Given the description of an element on the screen output the (x, y) to click on. 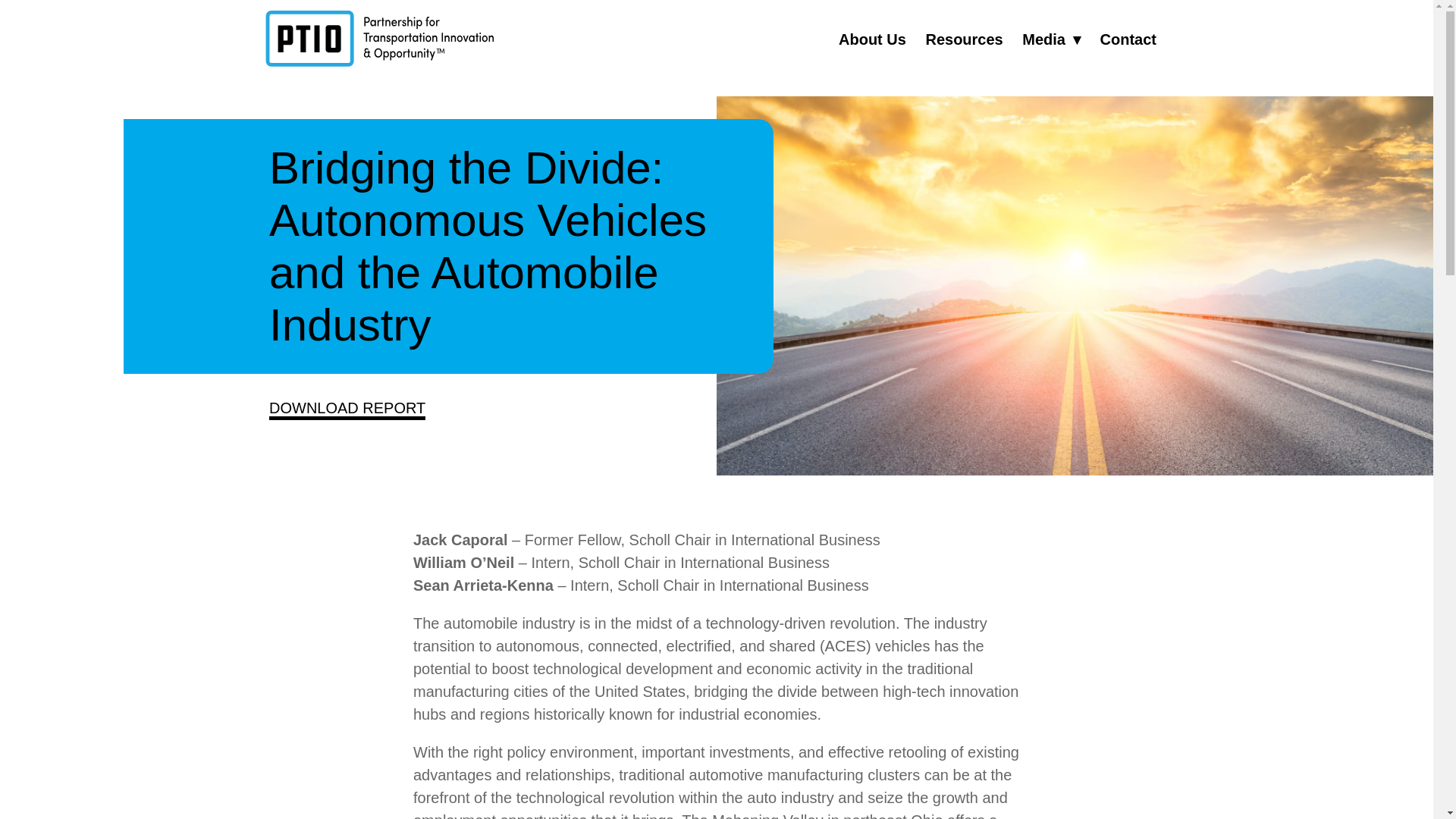
Resources (963, 39)
Contact (1128, 39)
DOWNLOAD REPORT (347, 409)
About Us (872, 39)
Media (1050, 39)
